Given the description of an element on the screen output the (x, y) to click on. 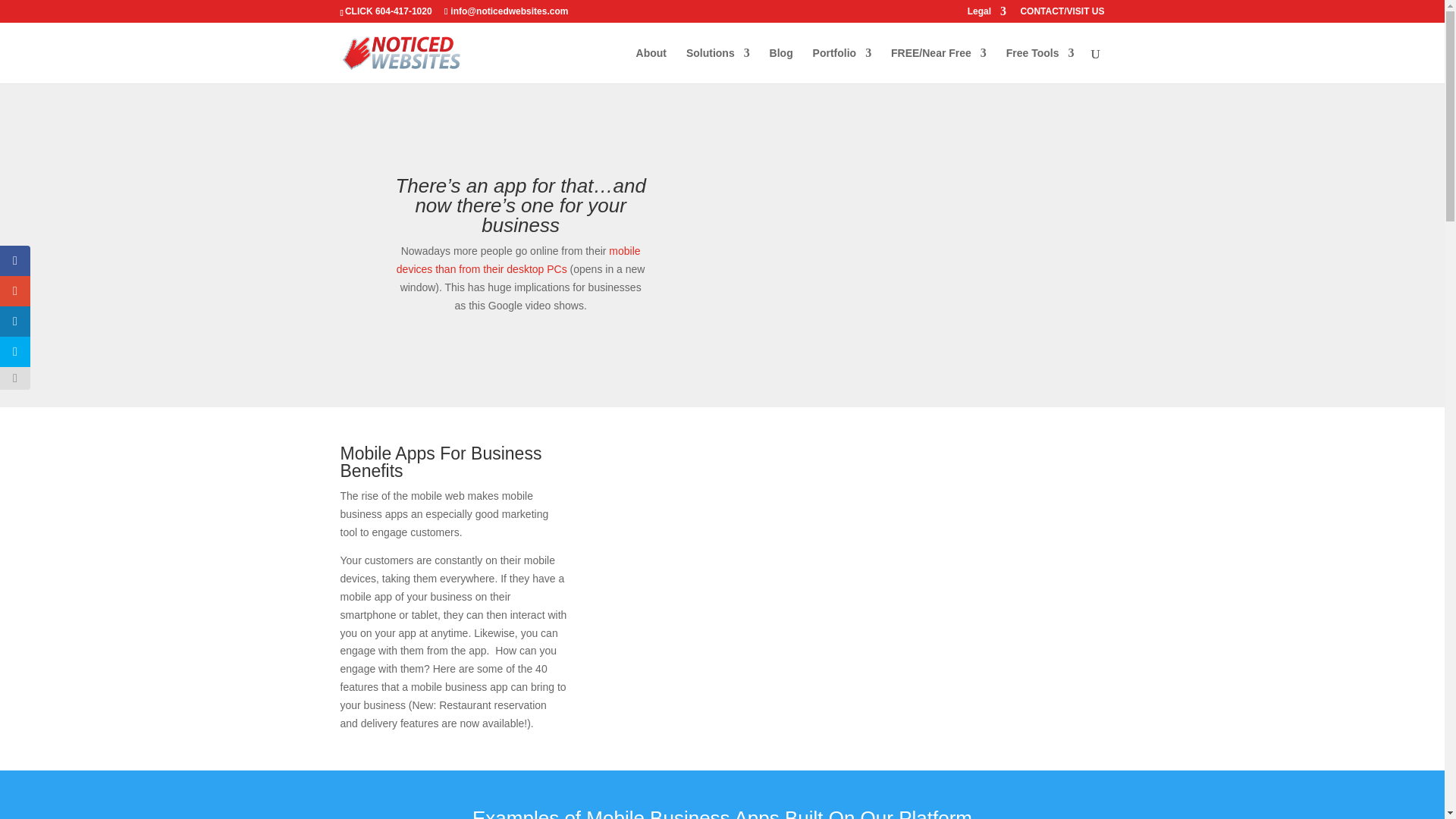
mobile devices than from their desktop PCs (518, 259)
Legal (987, 14)
604-417-1020 (403, 10)
Portfolio (842, 65)
About (651, 65)
Free Tools (1040, 65)
Solutions (717, 65)
Blog (781, 65)
